Given the description of an element on the screen output the (x, y) to click on. 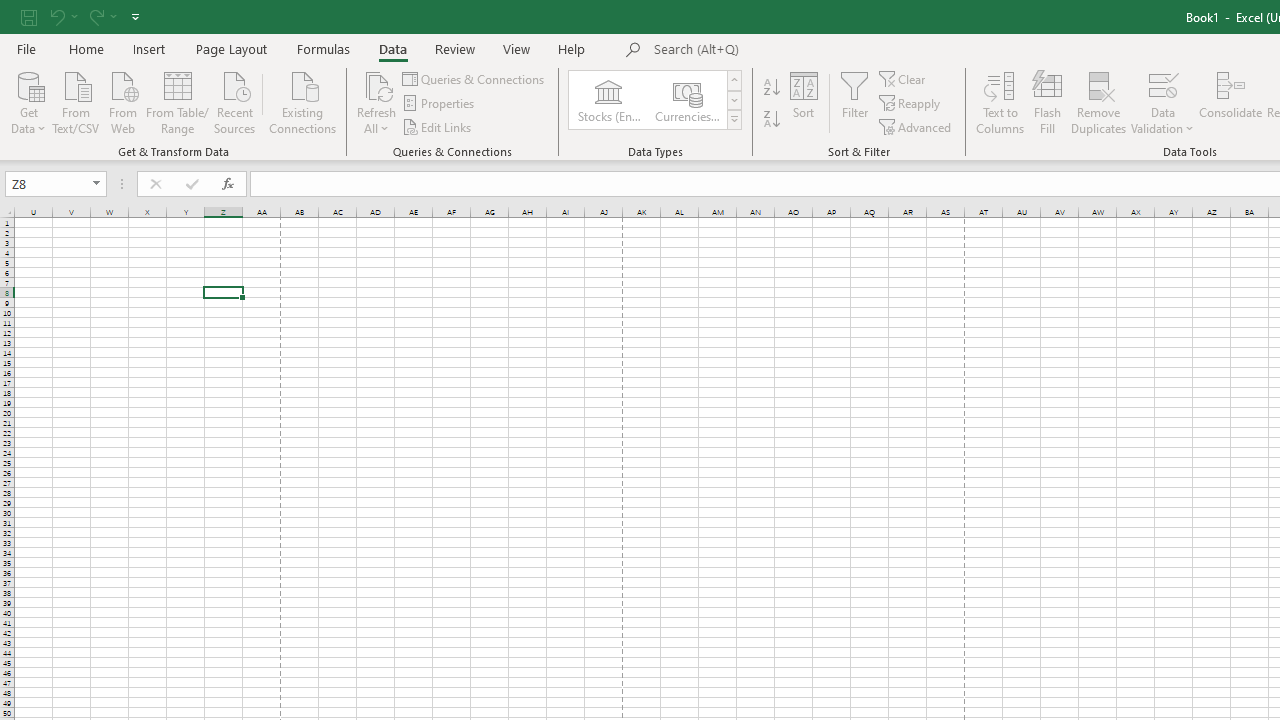
Flash Fill (1047, 102)
Remove Duplicates (1098, 102)
Sort A to Z (772, 87)
Recent Sources (235, 101)
